Given the description of an element on the screen output the (x, y) to click on. 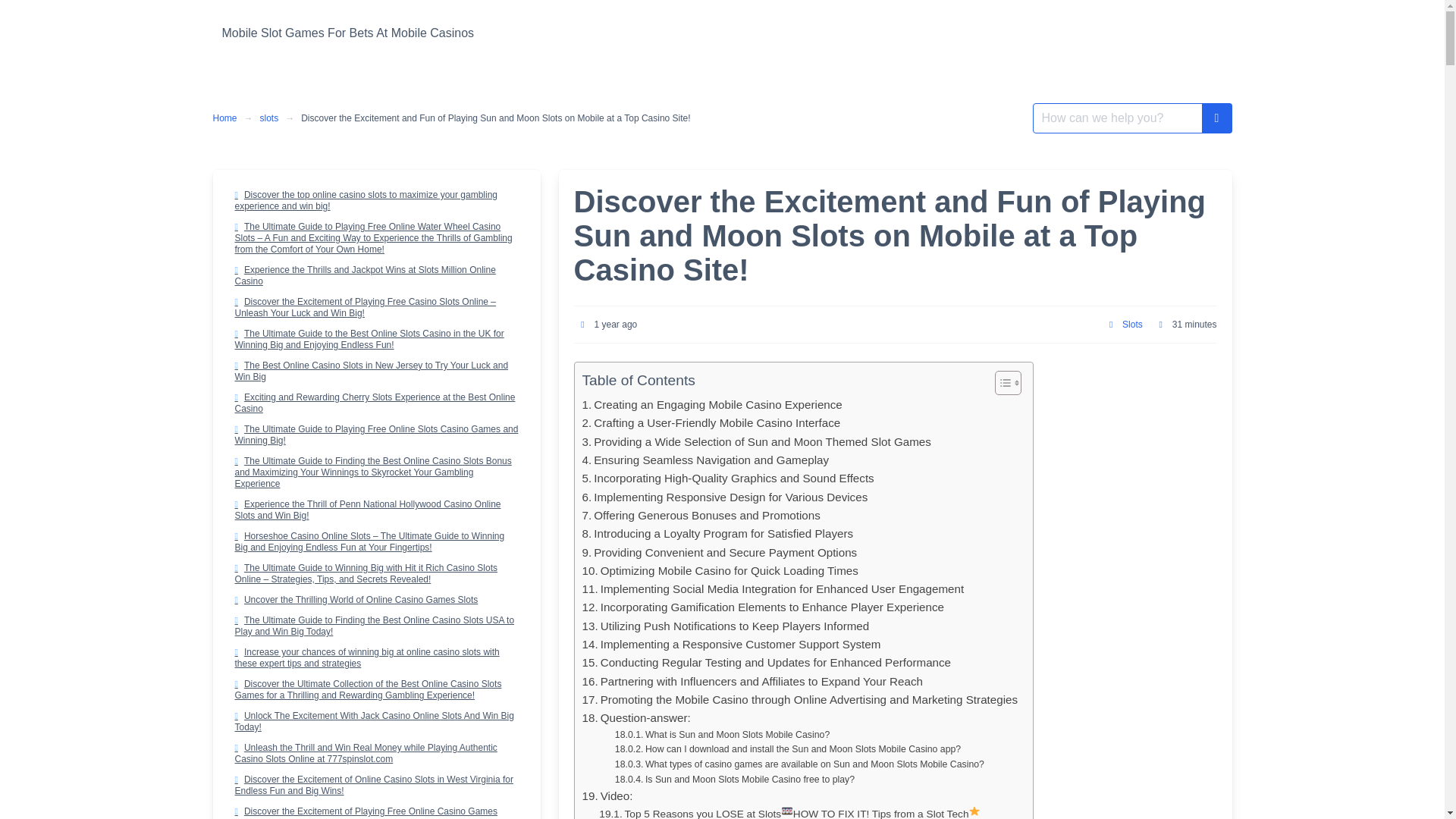
Mobile Slot Games For Bets At Mobile Casinos (347, 33)
slots (269, 118)
Creating an Engaging Mobile Casino Experience (712, 404)
Incorporating High-Quality Graphics and Sound Effects (728, 478)
Optimizing Mobile Casino for Quick Loading Times (720, 570)
Implementing a Responsive Customer Support System (731, 644)
Uncover the Thrilling World of Online Casino Games Slots (375, 599)
